Given the description of an element on the screen output the (x, y) to click on. 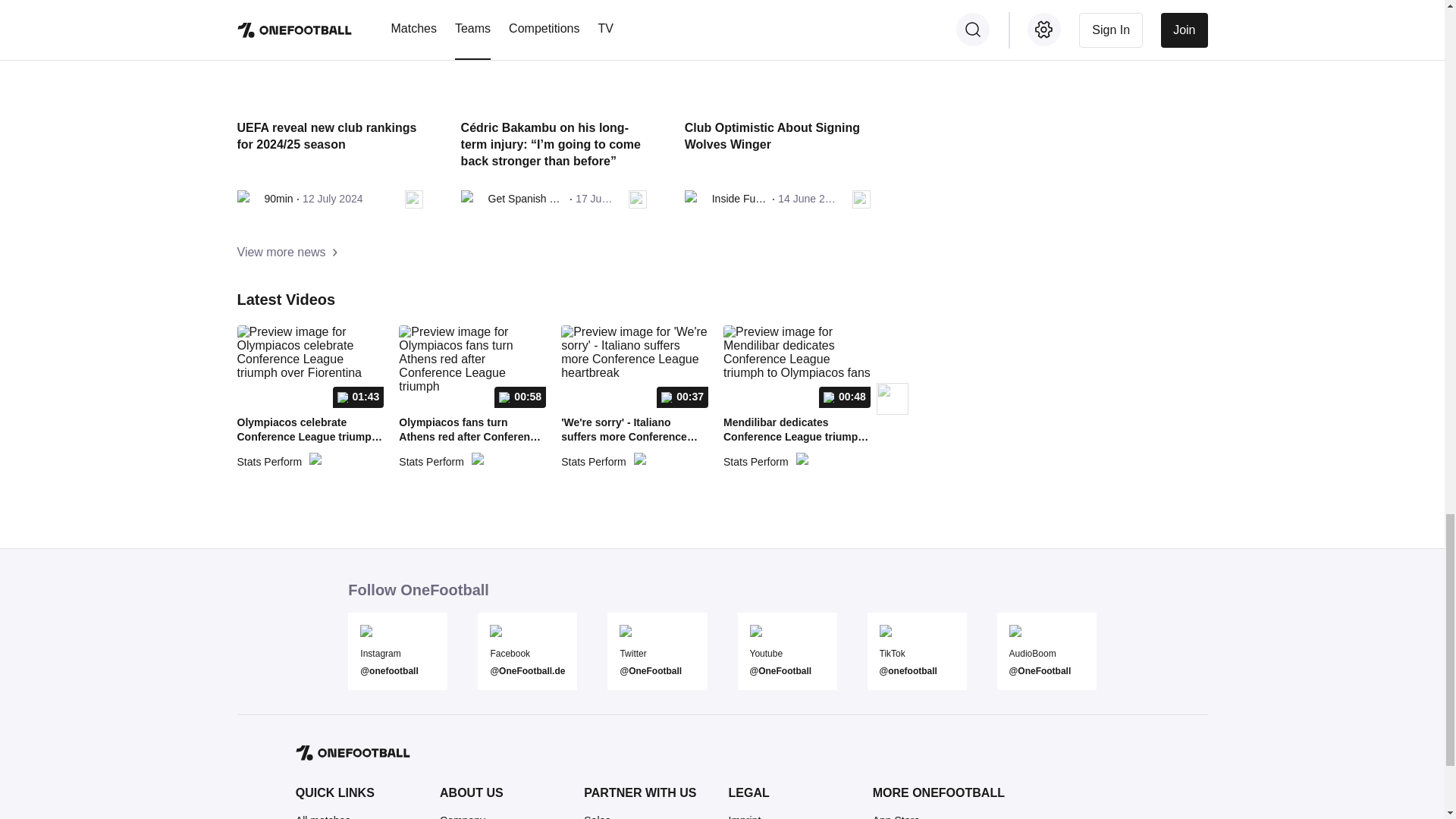
Twitter (657, 653)
Facebook (526, 653)
TikTok (917, 653)
Youtube (786, 653)
Instagram (397, 653)
